Given the description of an element on the screen output the (x, y) to click on. 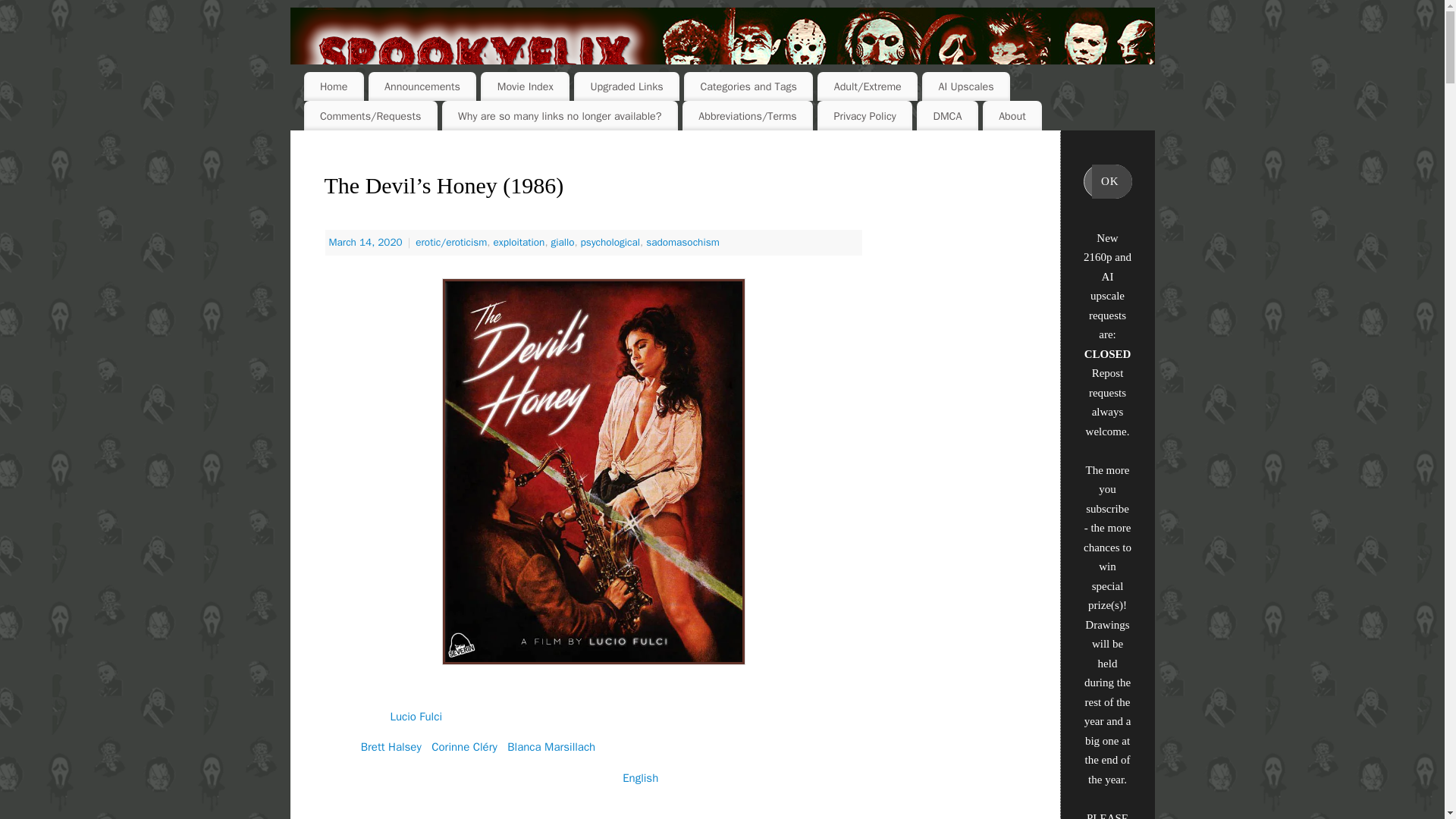
SpookyFlix (721, 60)
Announcements (422, 86)
Movie Index (524, 86)
March 14, 2020 (367, 241)
Lucio Fulci (416, 716)
Home (332, 86)
Blanca Marsillach (550, 746)
giallo (561, 241)
English (640, 777)
Brett Halsey (391, 746)
